Given the description of an element on the screen output the (x, y) to click on. 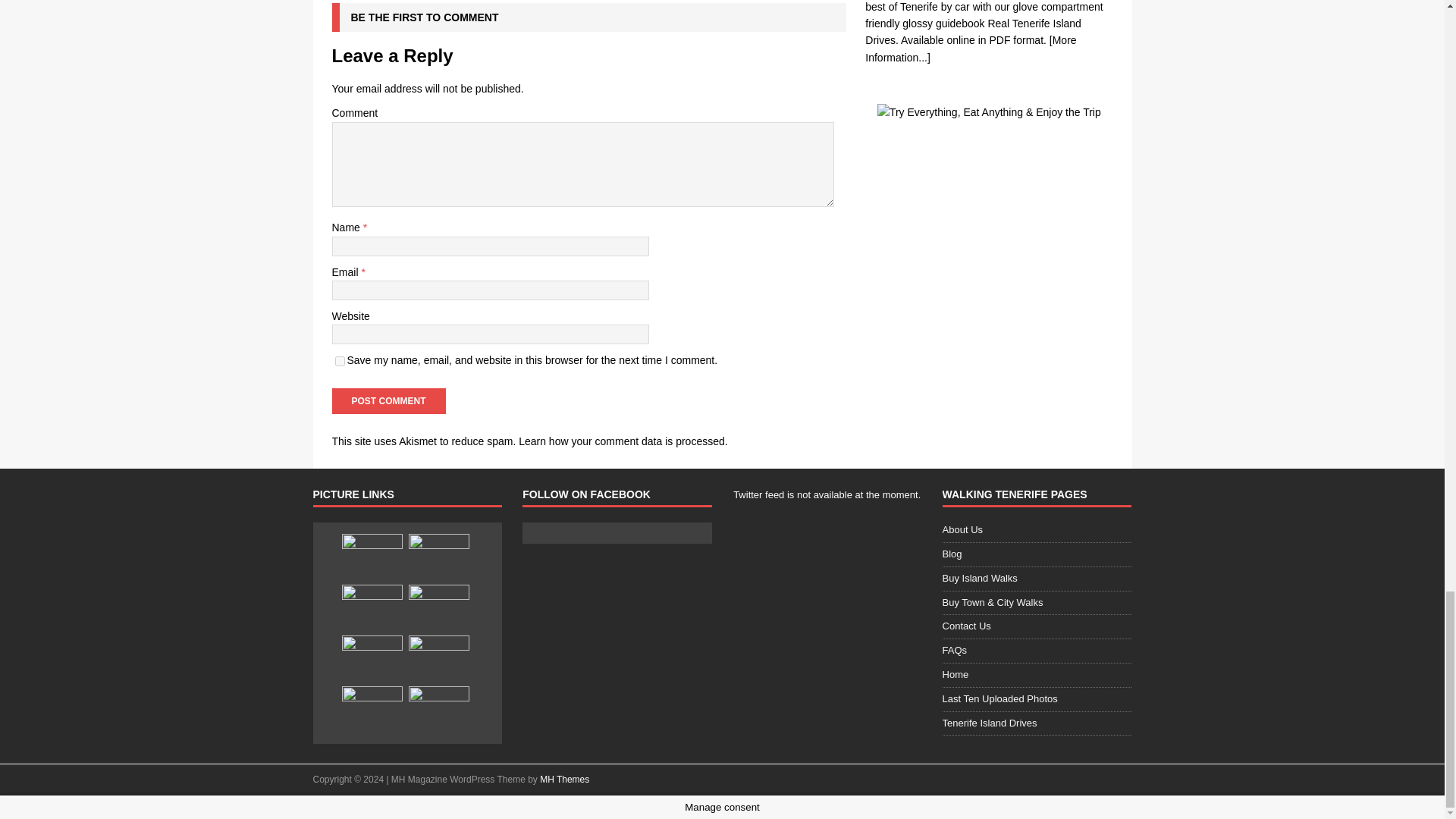
Post Comment (388, 401)
yes (339, 361)
